Given the description of an element on the screen output the (x, y) to click on. 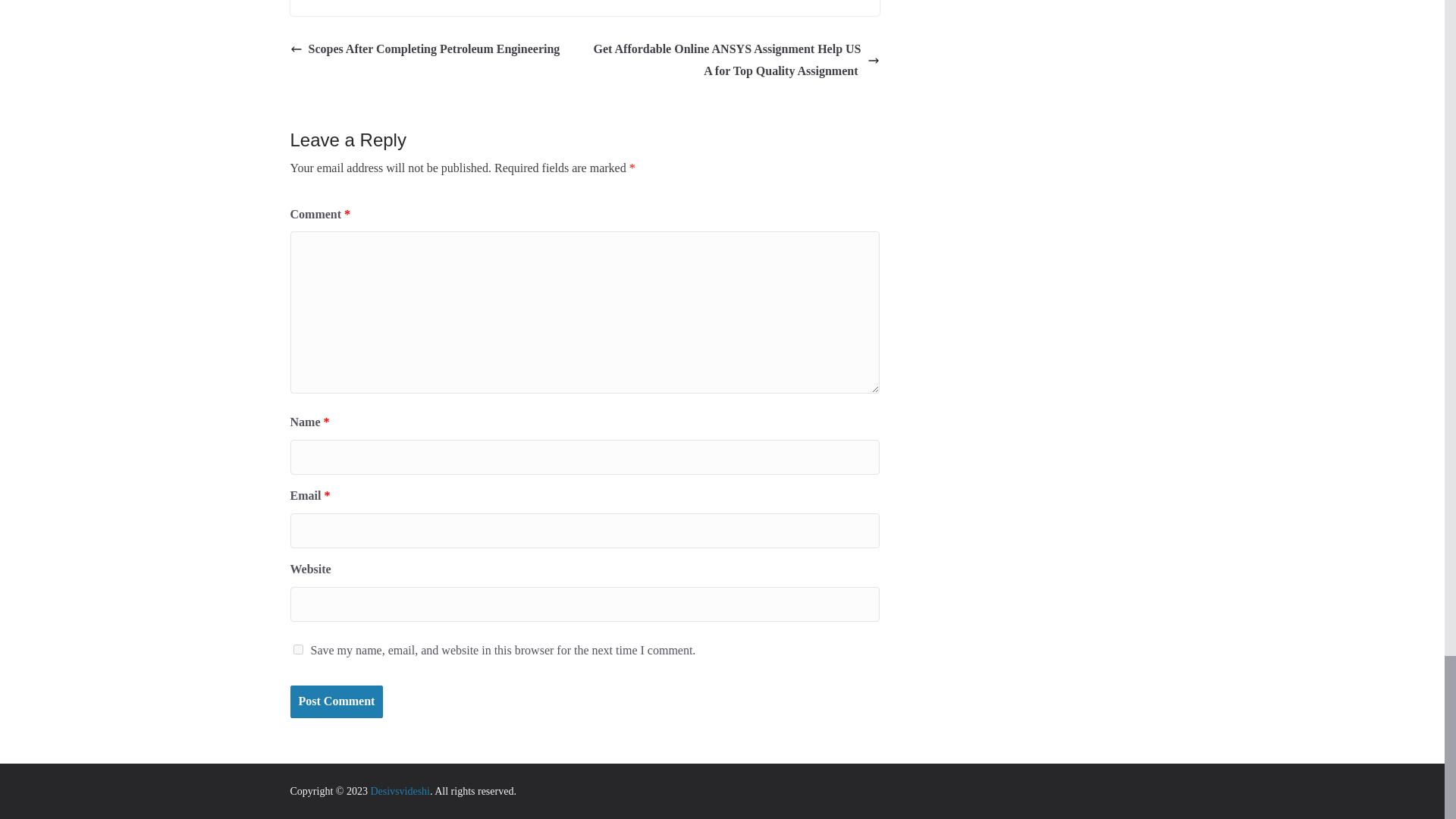
Scopes After Completing Petroleum Engineering (424, 49)
Post Comment (335, 701)
Post Comment (335, 701)
yes (297, 649)
